Given the description of an element on the screen output the (x, y) to click on. 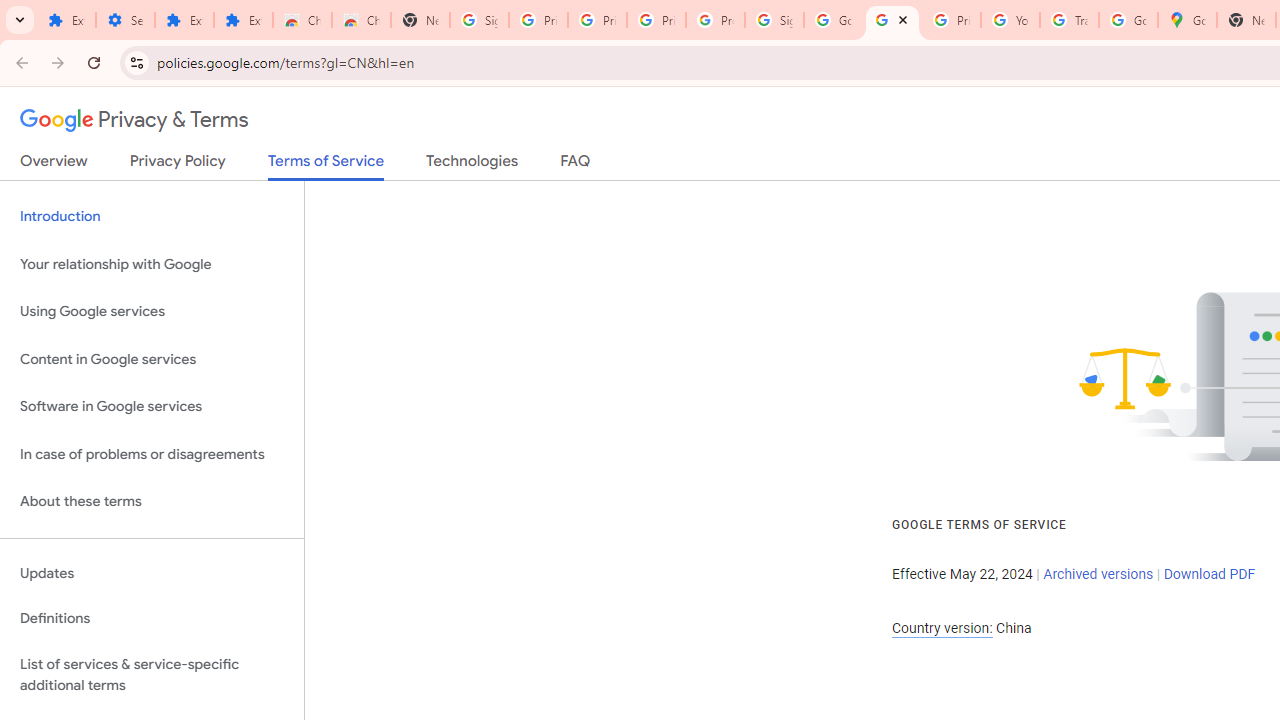
Software in Google services (152, 407)
New Tab (420, 20)
Your relationship with Google (152, 263)
